Given the description of an element on the screen output the (x, y) to click on. 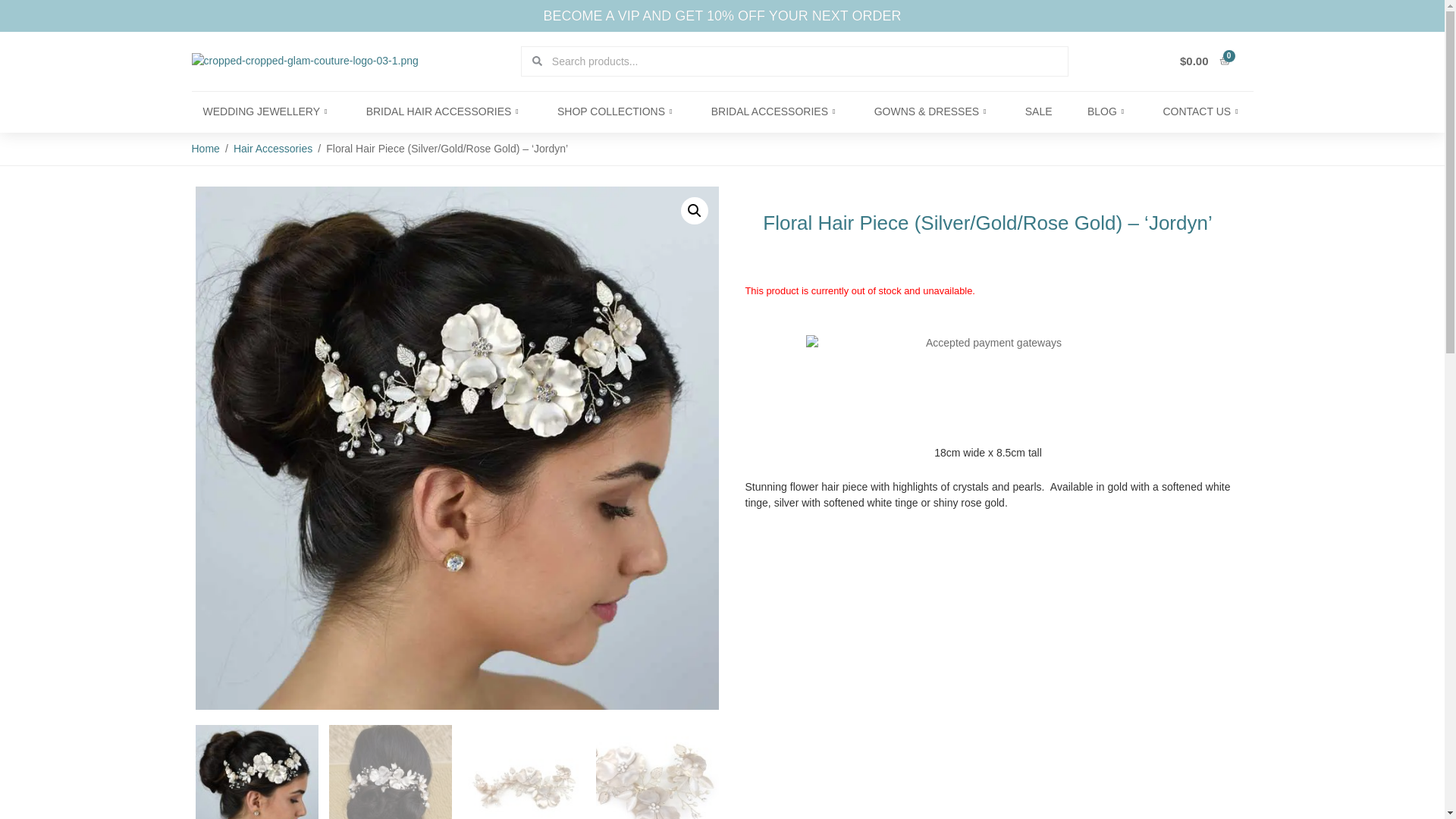
cropped-cropped-glam-couture-logo-03-1.png (303, 60)
BRIDAL HAIR ACCESSORIES (444, 111)
WEDDING JEWELLERY (266, 111)
